Given the description of an element on the screen output the (x, y) to click on. 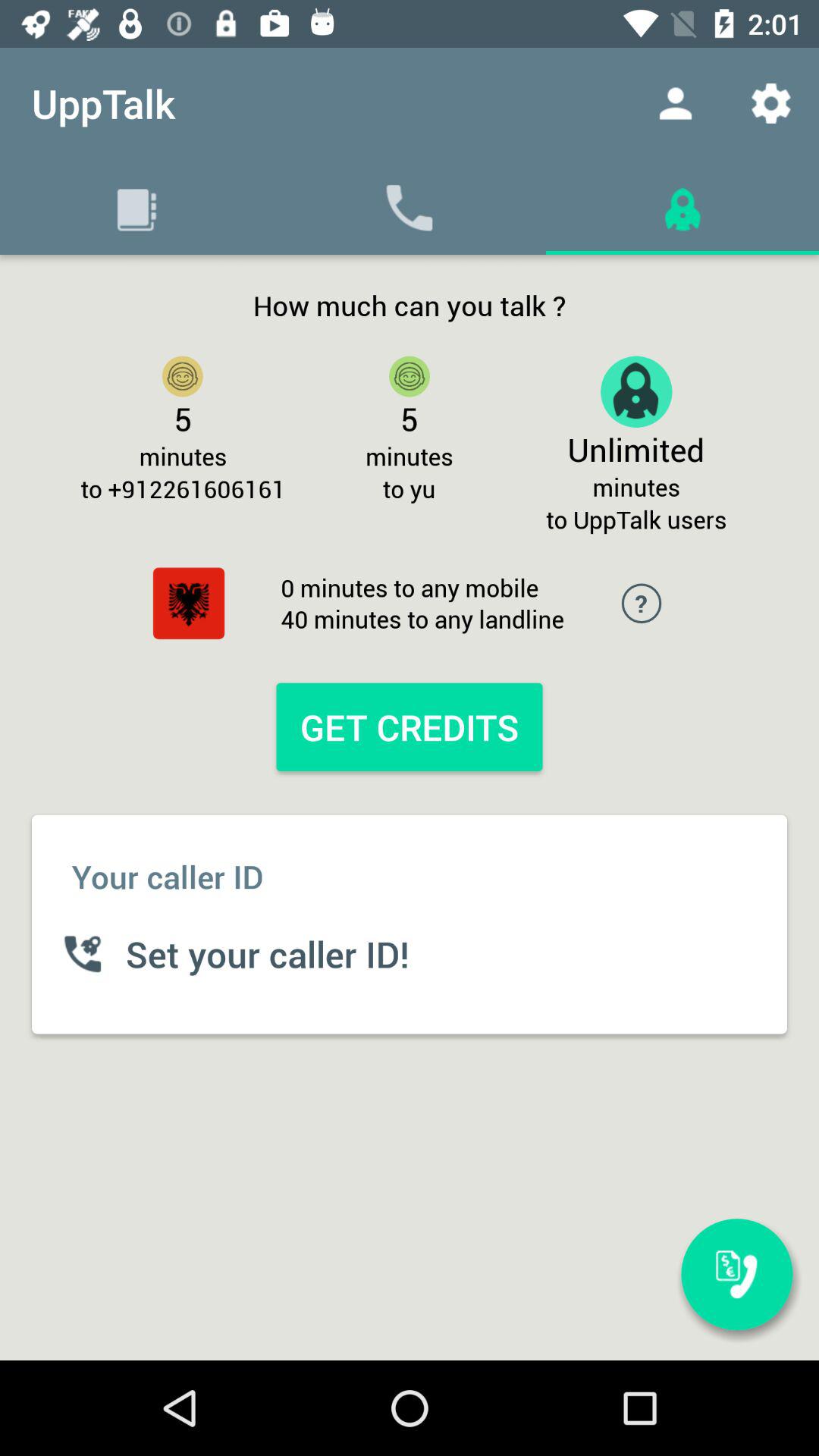
open icon above the to upptalk users icon (771, 103)
